Given the description of an element on the screen output the (x, y) to click on. 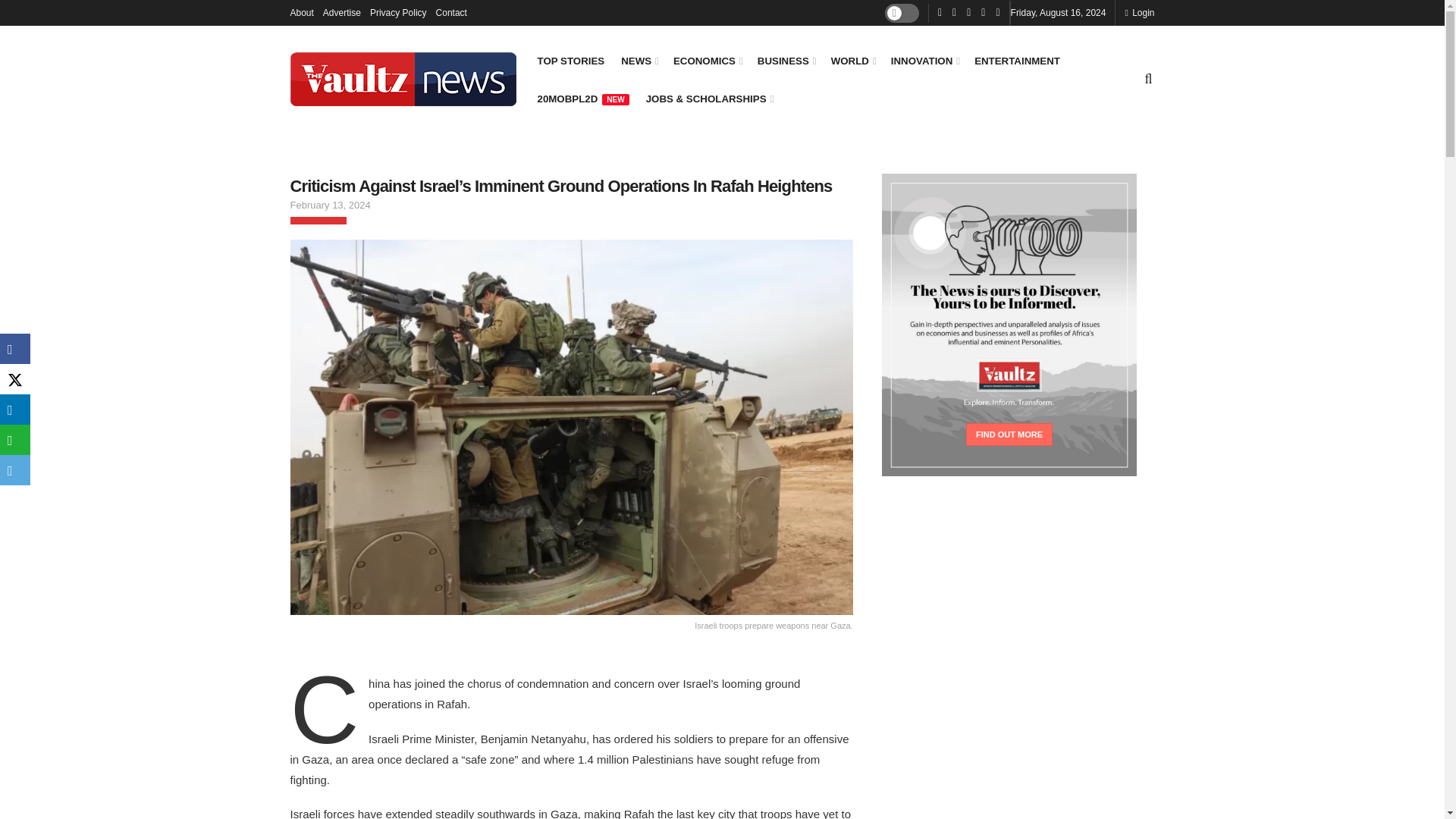
Contact (451, 12)
NEWS (638, 60)
Privacy Policy (397, 12)
FIND OUT MORE (1009, 434)
BUSINESS (785, 60)
TOP STORIES (570, 60)
WORLD (853, 60)
About (301, 12)
Advertise (342, 12)
Login (1139, 12)
